Given the description of an element on the screen output the (x, y) to click on. 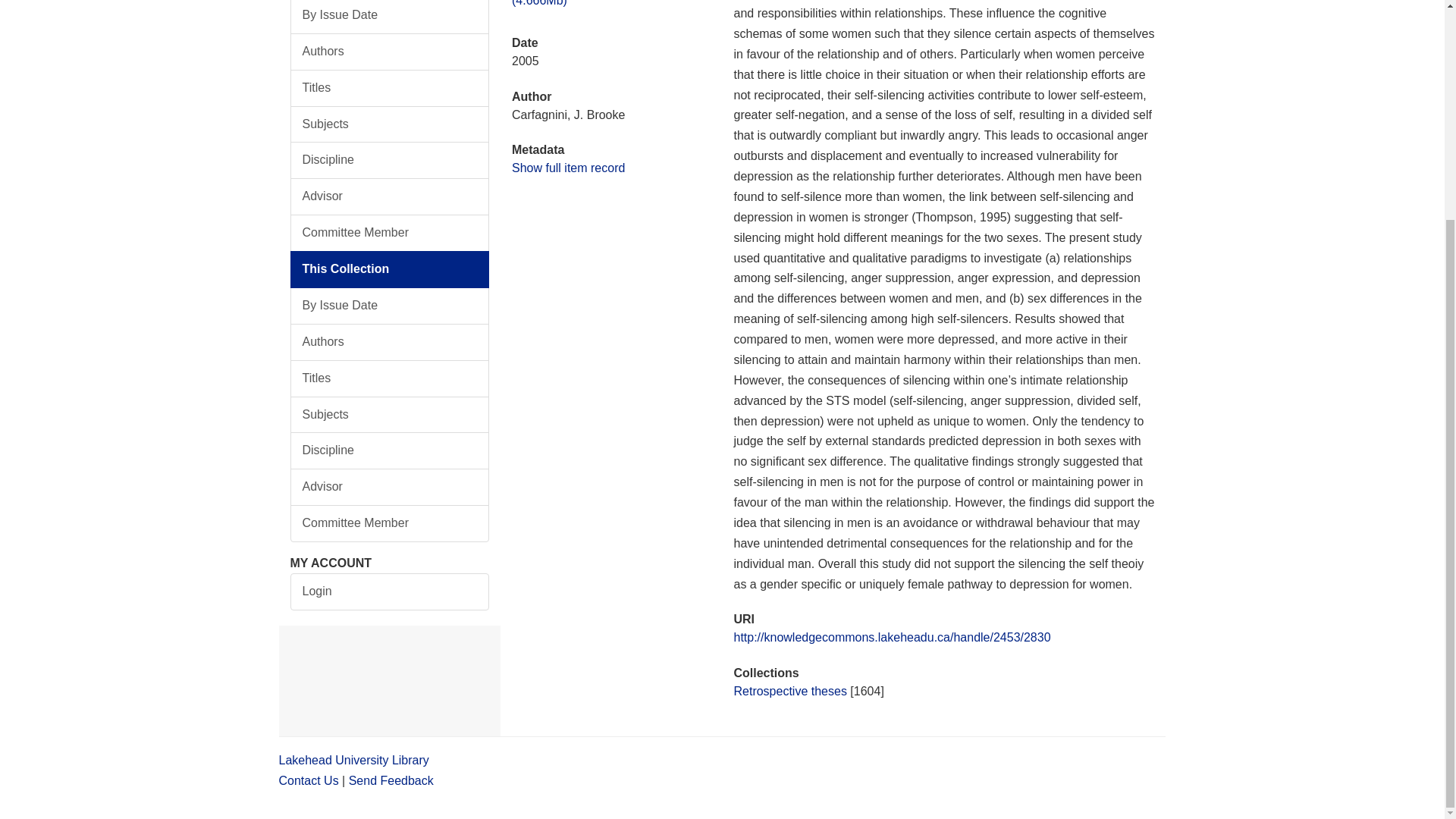
By Issue Date (389, 17)
Advisor (389, 487)
By Issue Date (389, 305)
Committee Member (389, 232)
Discipline (389, 450)
Subjects (389, 415)
Retrospective theses (789, 690)
Authors (389, 51)
Titles (389, 88)
Authors (389, 342)
Advisor (389, 196)
Show full item record (568, 167)
Titles (389, 378)
Discipline (389, 160)
Subjects (389, 124)
